Given the description of an element on the screen output the (x, y) to click on. 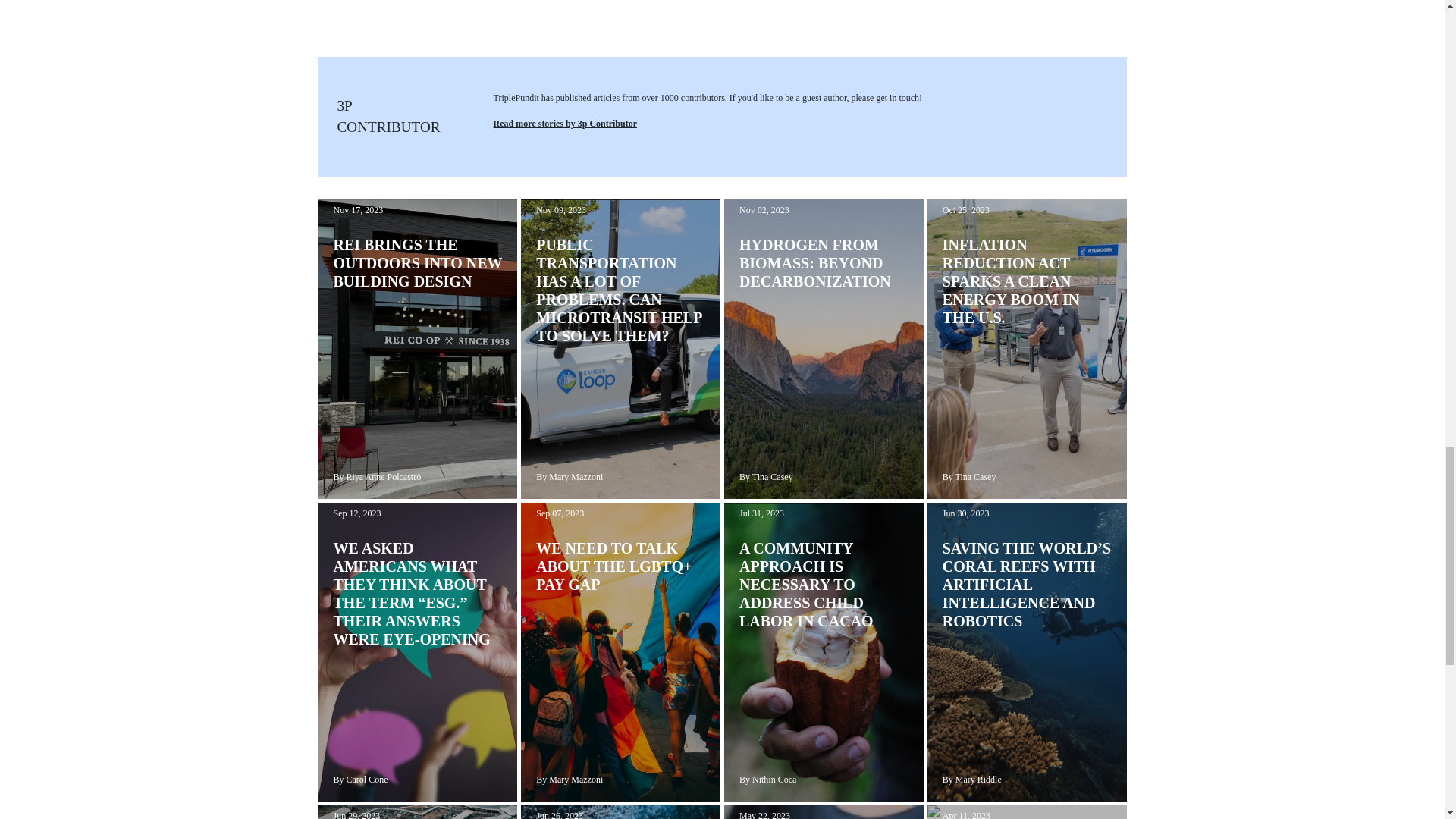
Read more stories by 3p Contributor (565, 122)
3p Contributor author page (565, 122)
3p Contributor author page (387, 116)
3P CONTRIBUTOR (387, 116)
please get in touch (884, 97)
